Given the description of an element on the screen output the (x, y) to click on. 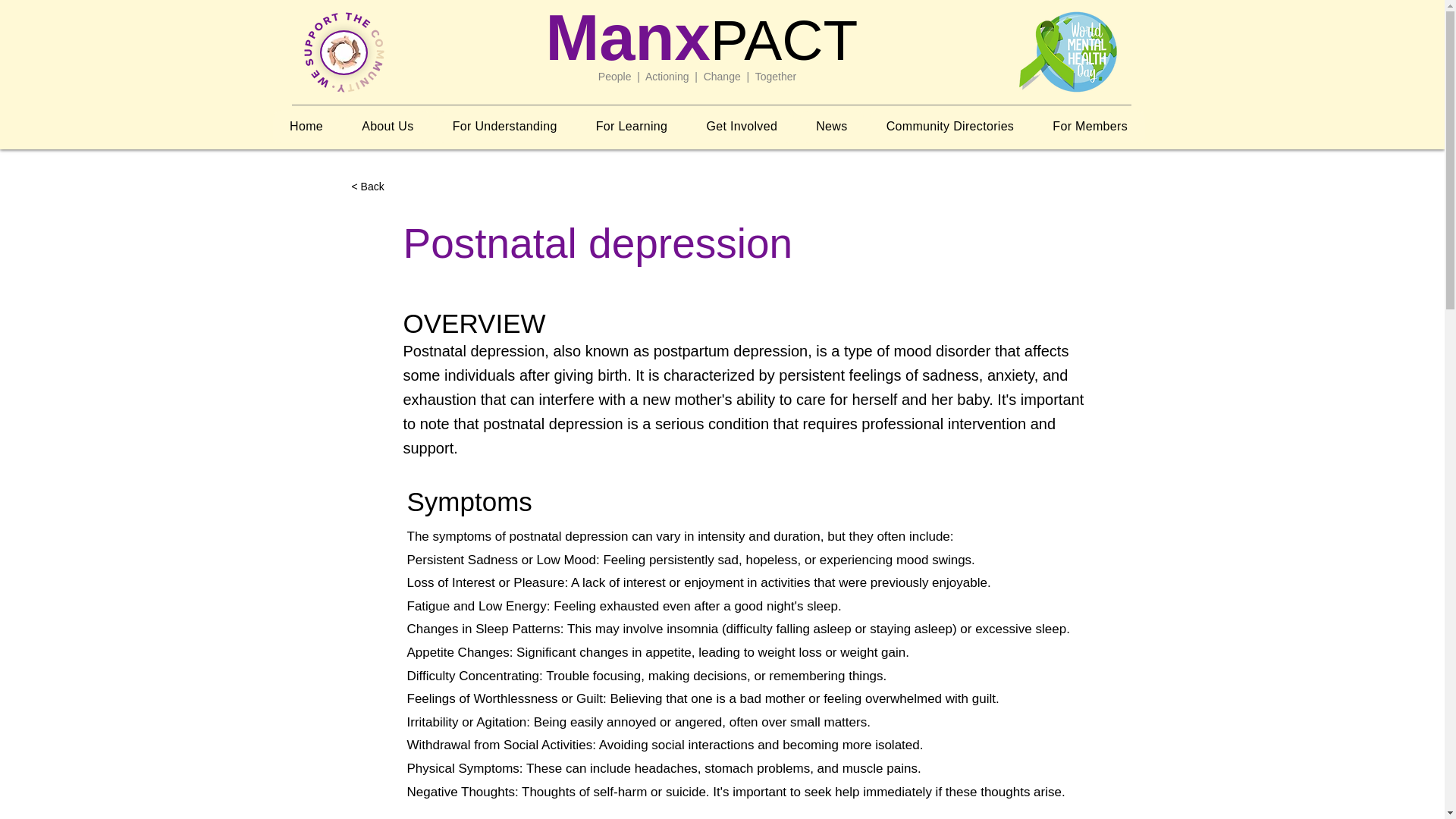
world-mental-health-day-banner-or-logo-i (1067, 51)
Home (306, 126)
